Given the description of an element on the screen output the (x, y) to click on. 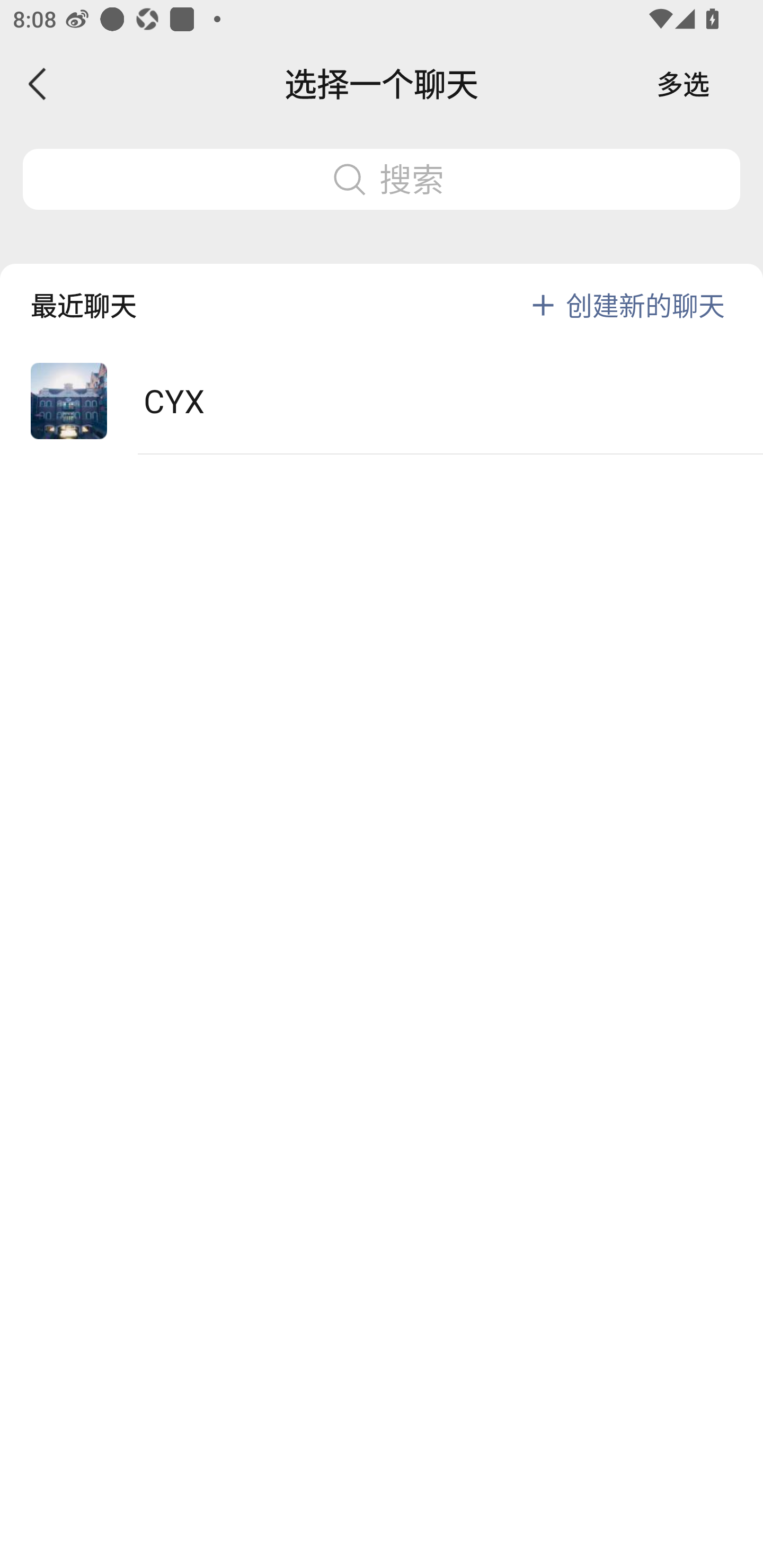
返回 (38, 83)
多选 (683, 83)
最近聊天 创建新的聊天 (381, 290)
创建新的聊天 (645, 304)
CYX (381, 401)
